Given the description of an element on the screen output the (x, y) to click on. 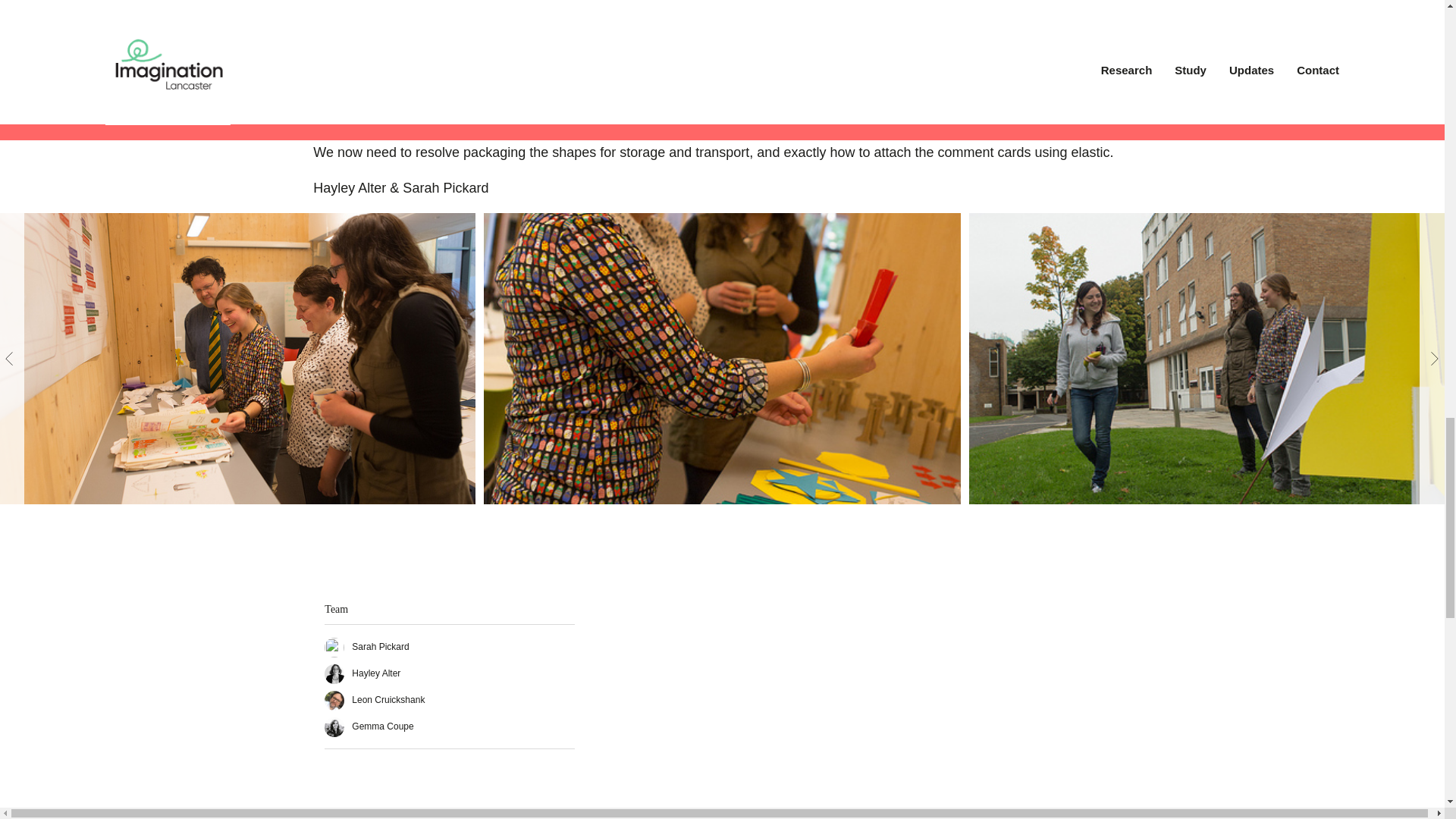
Sarah Pickard (366, 646)
Hayley Alter (362, 673)
Leon Cruickshank (374, 699)
Gemma Coupe (368, 726)
